Given the description of an element on the screen output the (x, y) to click on. 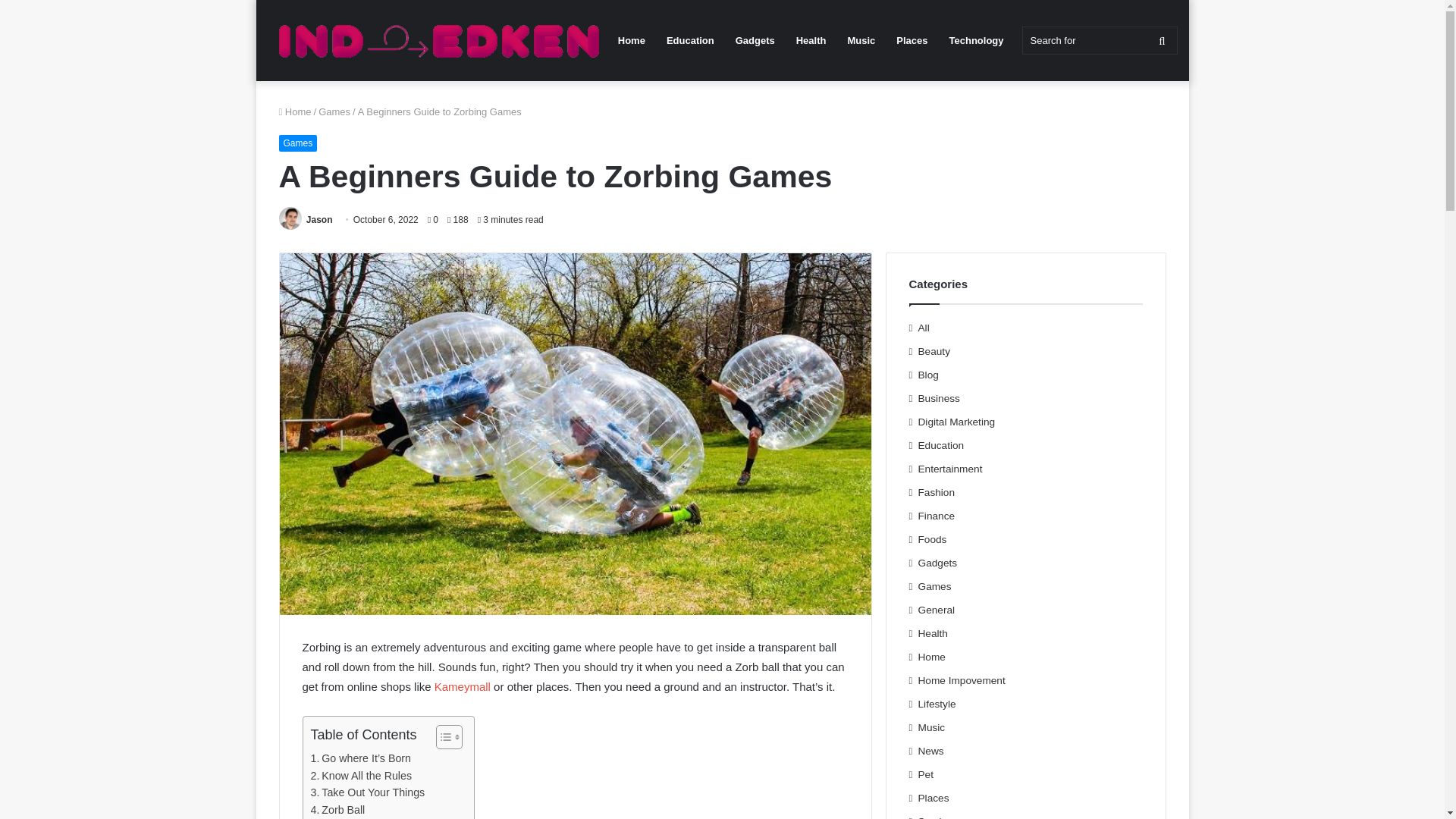
Know All the Rules (361, 775)
Kameymall (461, 686)
Know All the Rules (361, 775)
Indeedken (435, 40)
Zorb Ball (338, 810)
Home (295, 111)
Technology (976, 40)
Jason (319, 219)
Take Out Your Things (368, 792)
Games (334, 111)
Zorb Ball (338, 810)
Jason (319, 219)
Take Out Your Things (368, 792)
Search for (1099, 40)
Games (298, 143)
